Given the description of an element on the screen output the (x, y) to click on. 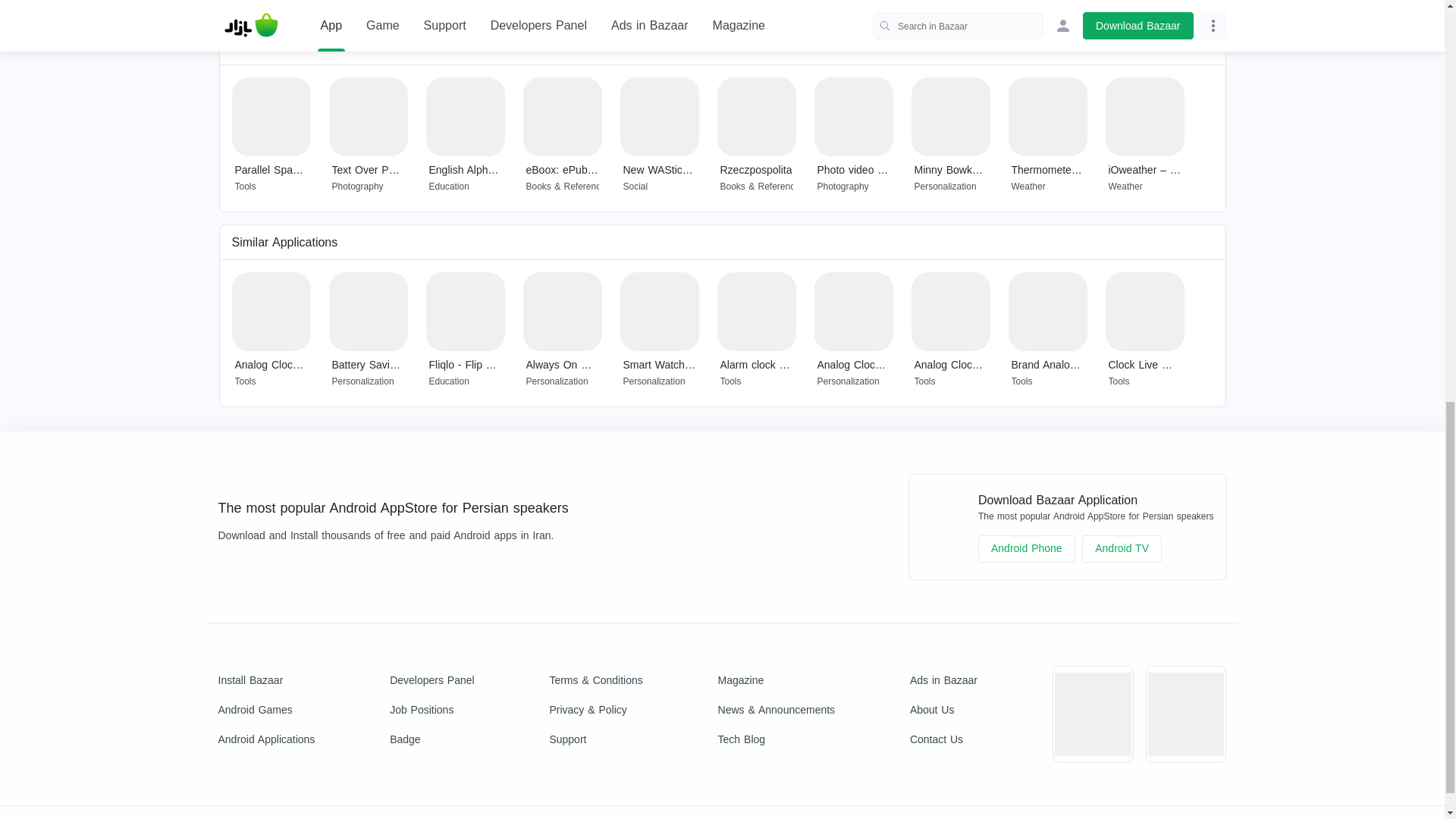
Install Bazaar (266, 680)
Android Games (266, 709)
